Given the description of an element on the screen output the (x, y) to click on. 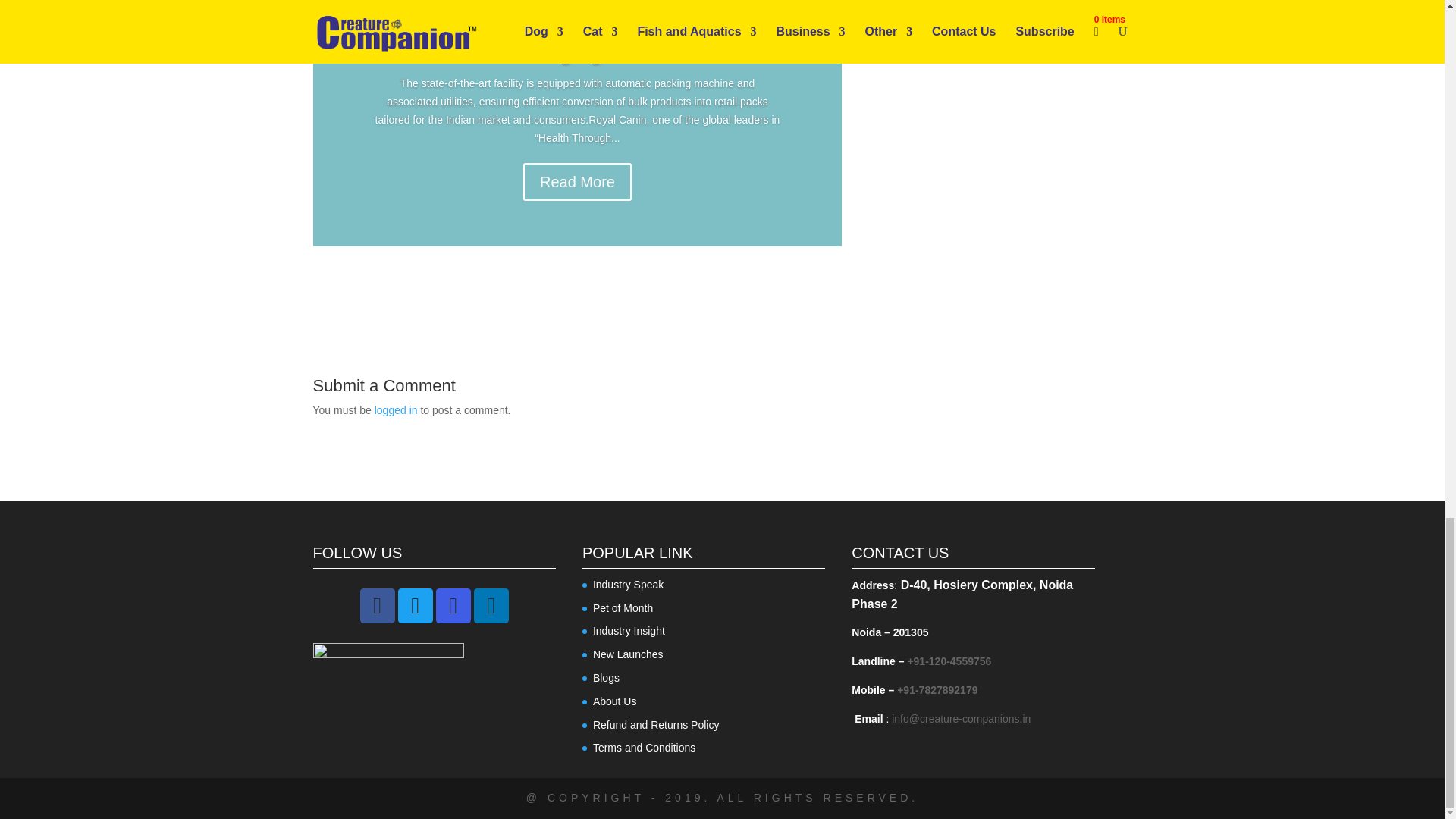
Facebook (376, 605)
Twitter (414, 605)
Instagram (452, 605)
